Given the description of an element on the screen output the (x, y) to click on. 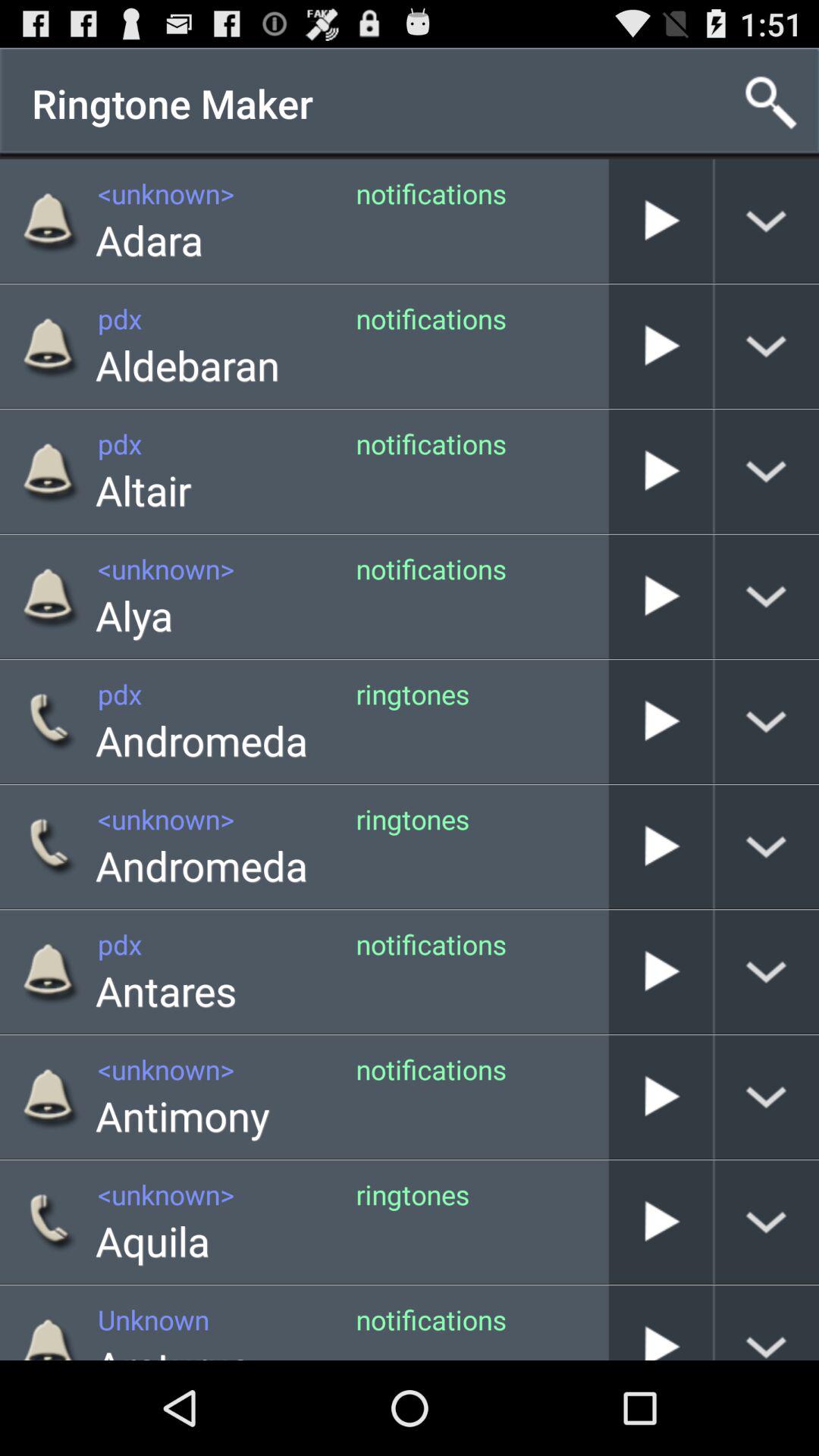
play button (660, 721)
